Given the description of an element on the screen output the (x, y) to click on. 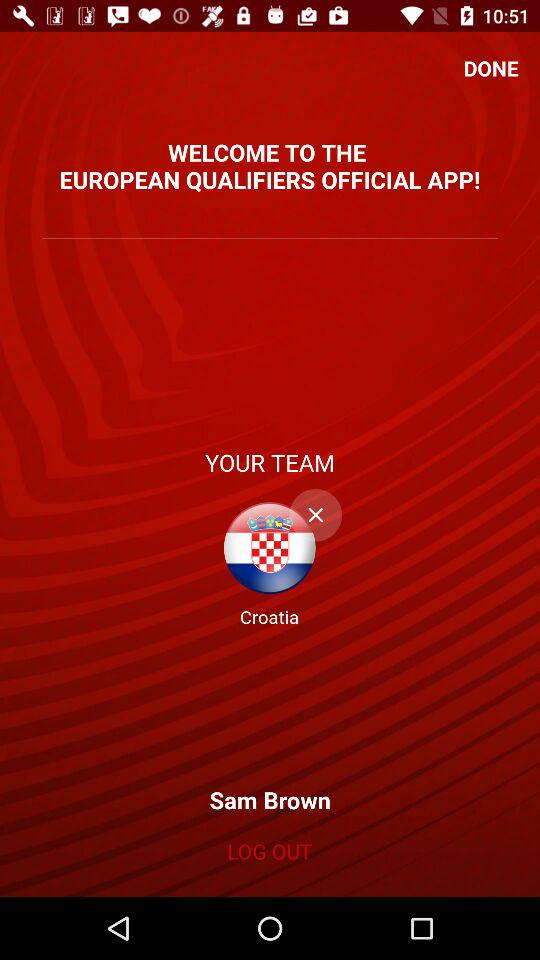
turn off the done icon (491, 68)
